Given the description of an element on the screen output the (x, y) to click on. 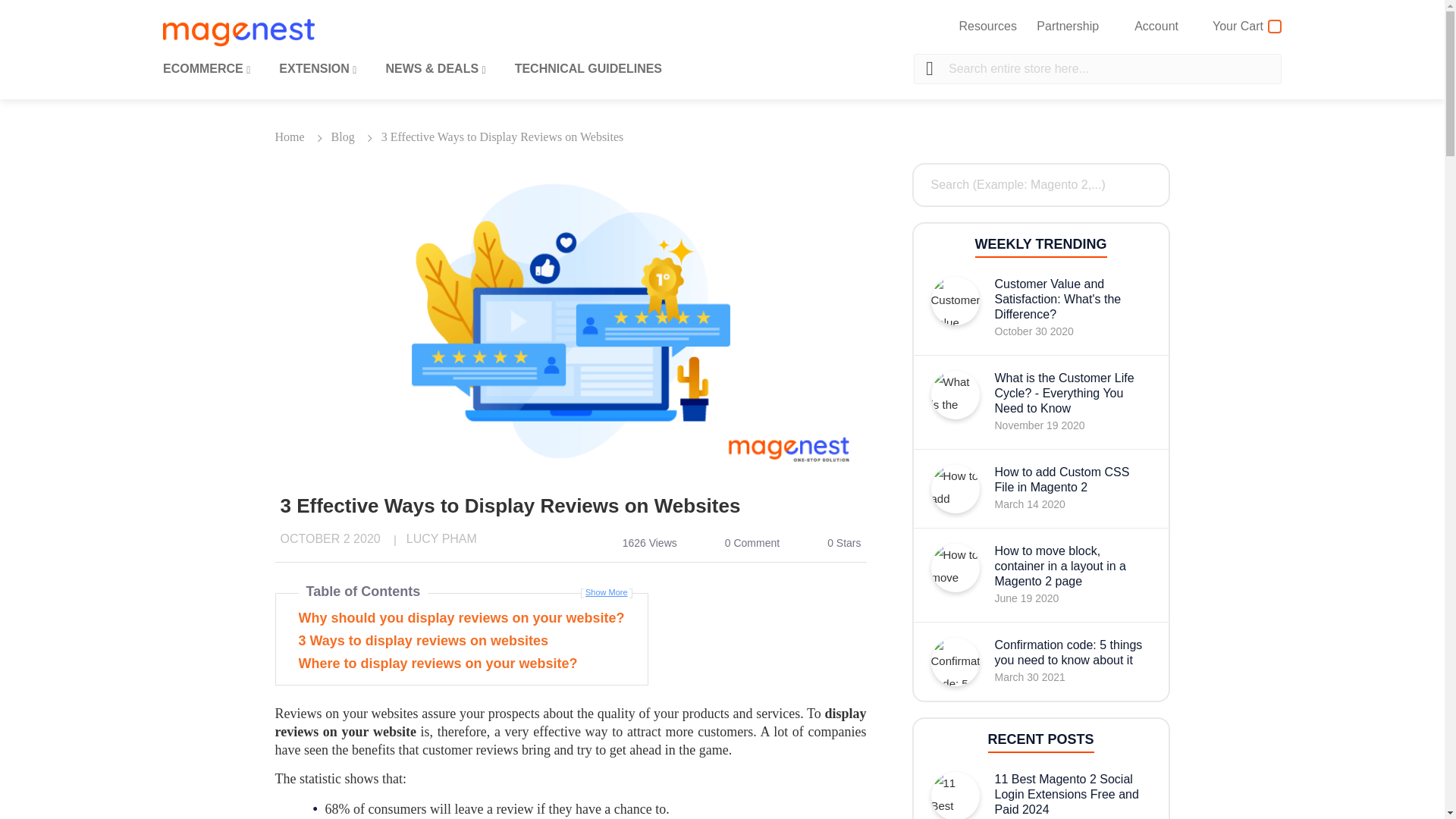
Why should you display reviews on your website? (461, 618)
Customer Value and Satisfaction: What's the Difference? (1072, 299)
Customer Value and Satisfaction: What's the Difference? (955, 300)
EXTENSION (317, 68)
3 Ways to display reviews on websites (461, 640)
Go to Home Page (291, 136)
Magenest (238, 32)
Resources (987, 25)
Where to display reviews on your website? (461, 663)
Search (929, 68)
